Given the description of an element on the screen output the (x, y) to click on. 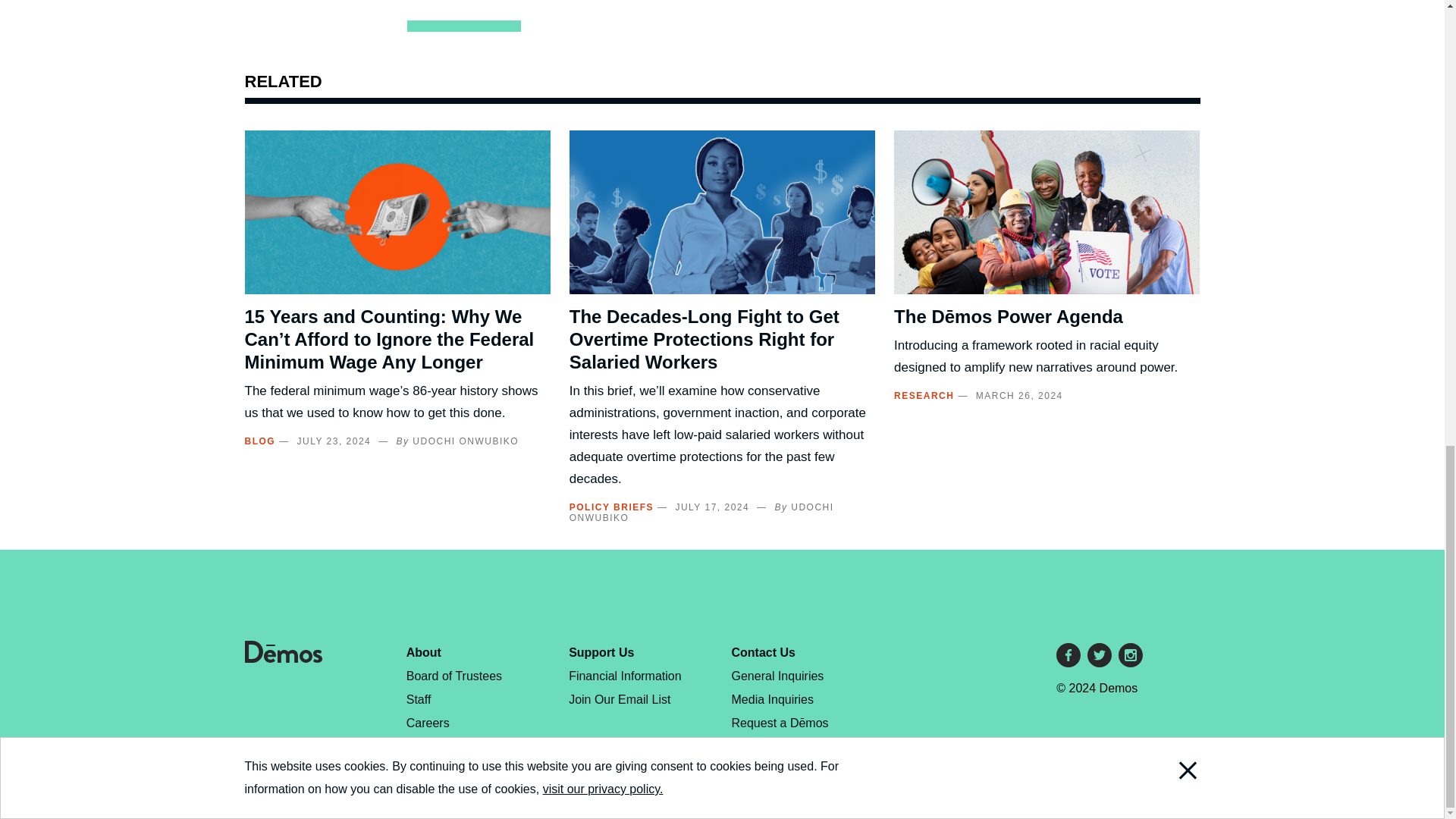
Privacy Policy (443, 746)
Careers (427, 722)
Twitter (1099, 654)
Facebook (1068, 654)
Join Our Email List (619, 698)
Staff (418, 698)
Media Inquiries (772, 698)
Support Us (601, 652)
Board of Trustees (454, 675)
Financial Information (625, 675)
General Inquiries (778, 675)
Reprint Permissions (460, 769)
Home (282, 658)
About (423, 652)
